Given the description of an element on the screen output the (x, y) to click on. 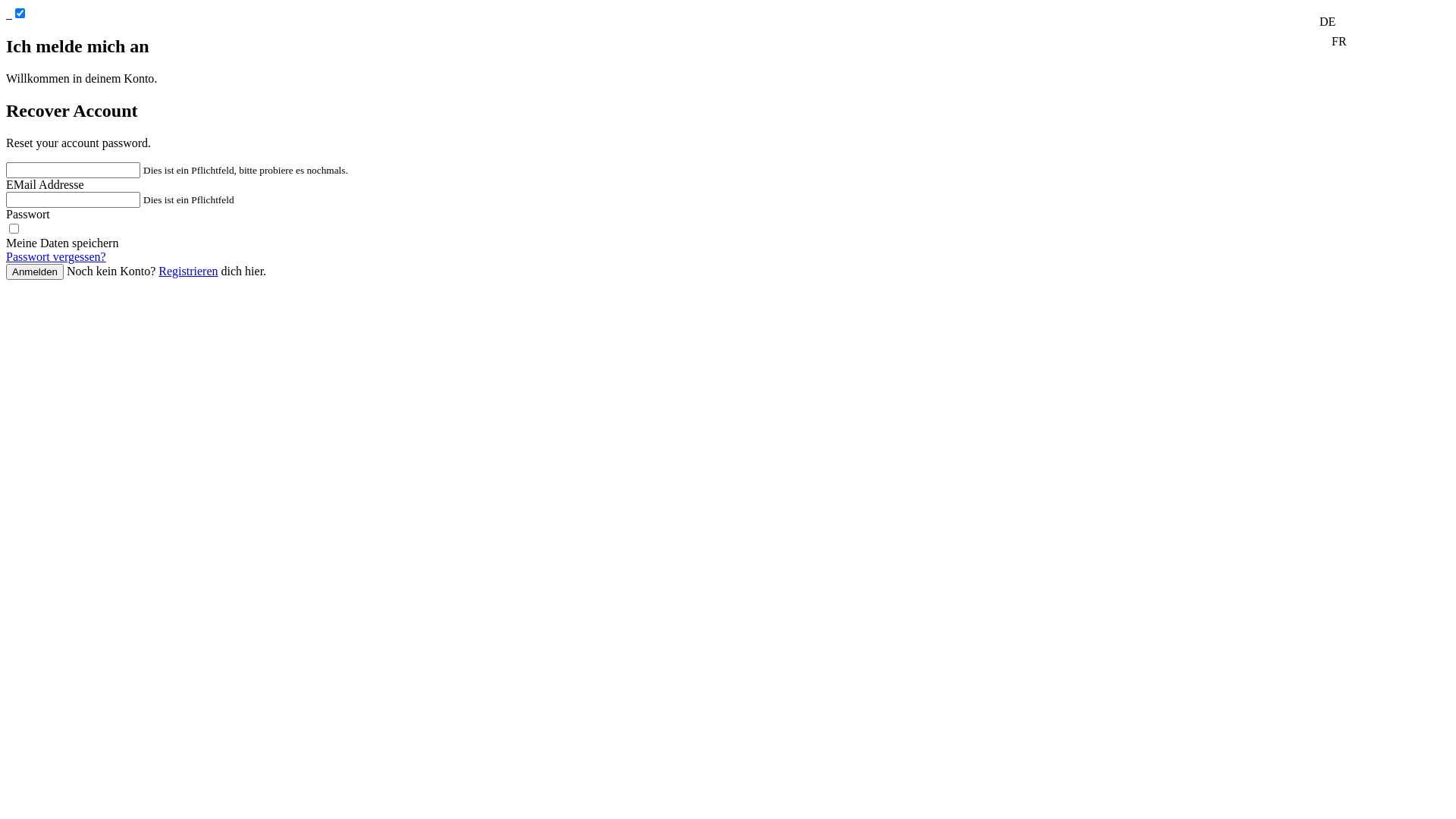
Passwort vergessen? Element type: text (56, 256)
Anmelden Element type: text (34, 271)
FR Element type: text (1338, 40)
Registrieren Element type: text (187, 270)
